Given the description of an element on the screen output the (x, y) to click on. 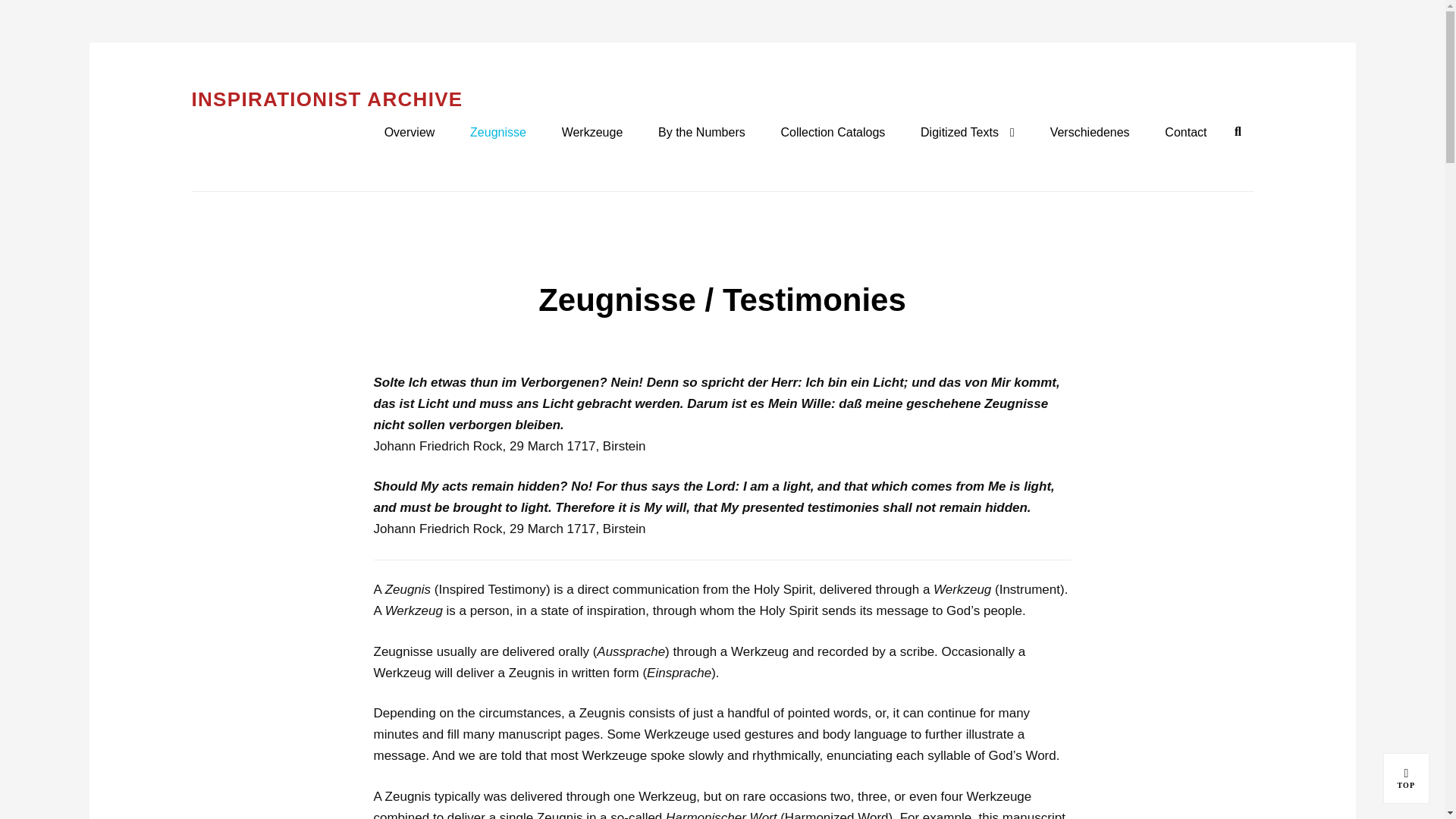
Verschiedenes (1089, 133)
Werkzeuge (592, 133)
Search (1237, 132)
Collection Catalogs (832, 133)
Zeugnisse (497, 133)
Digitized Texts (1406, 777)
Contact (967, 133)
Overview (1185, 133)
By the Numbers (409, 133)
INSPIRATIONIST ARCHIVE (1406, 777)
